Given the description of an element on the screen output the (x, y) to click on. 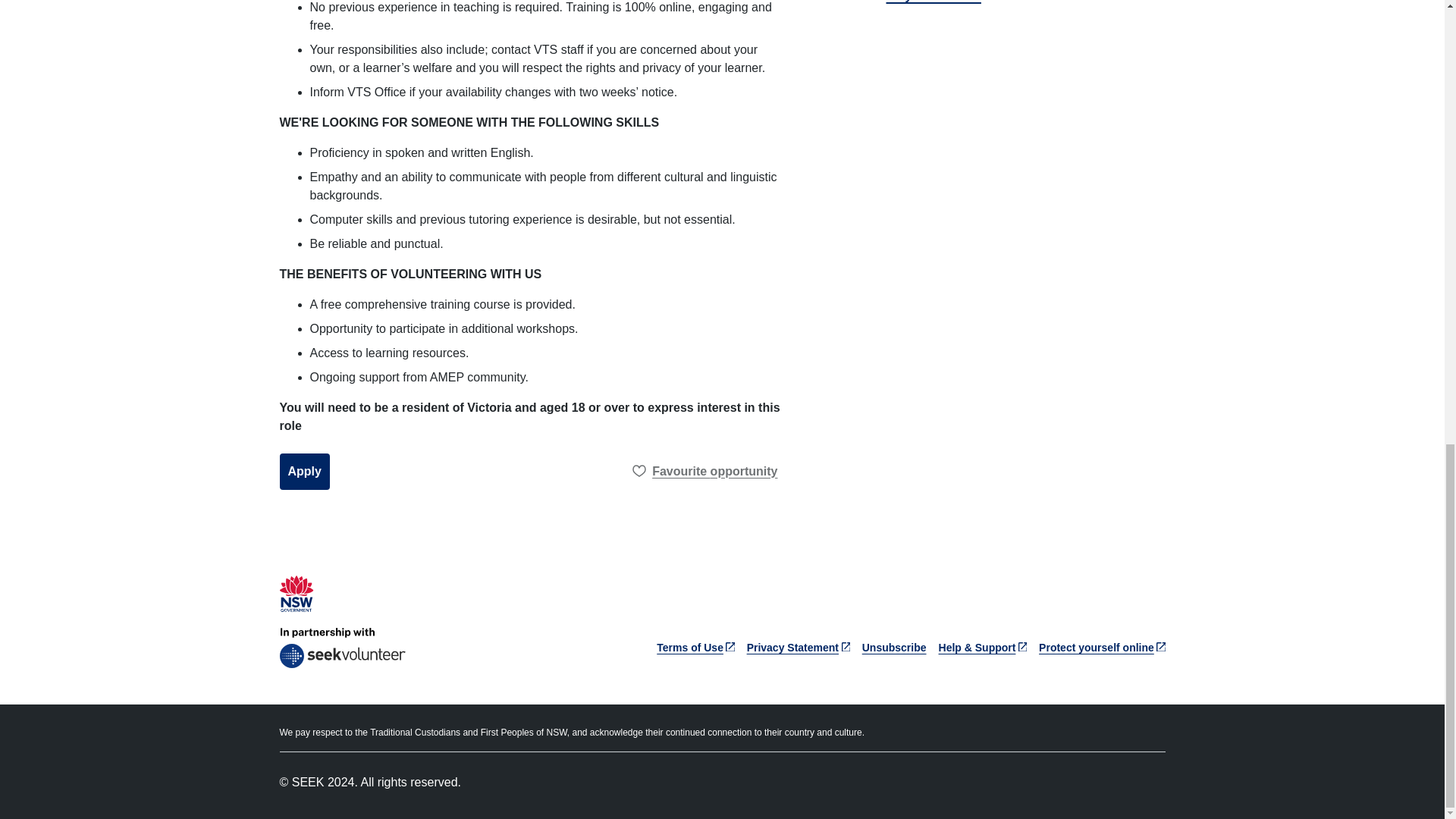
Terms of Use (694, 647)
Protect yourself online (1101, 647)
Privacy Statement (798, 647)
Unsubscribe (893, 647)
Apply (304, 471)
Favourite opportunity (705, 471)
